Given the description of an element on the screen output the (x, y) to click on. 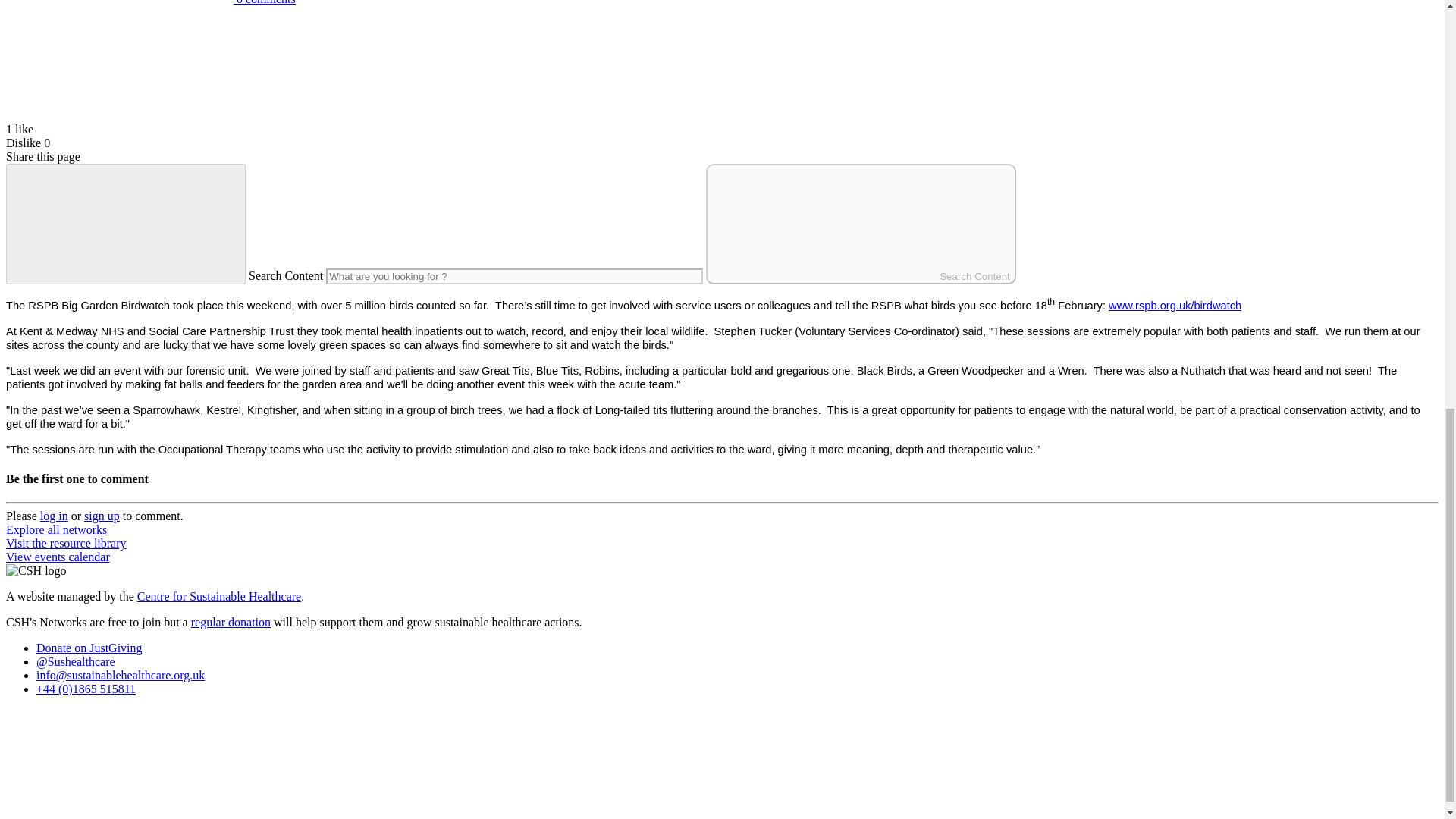
Close search window (125, 223)
Centre for Sustainable Healthcare (218, 595)
View events calendar (57, 556)
Total amount of likes (118, 62)
Dislike (22, 142)
log in (54, 515)
Search Content (861, 223)
Total amount of likes (118, 115)
Dislike (22, 142)
Visit the resource library (65, 543)
regular donation (230, 621)
sign up (101, 515)
Total amount of comments (118, 1)
Total amount of comments 0 comments (150, 2)
Explore all networks (55, 529)
